Given the description of an element on the screen output the (x, y) to click on. 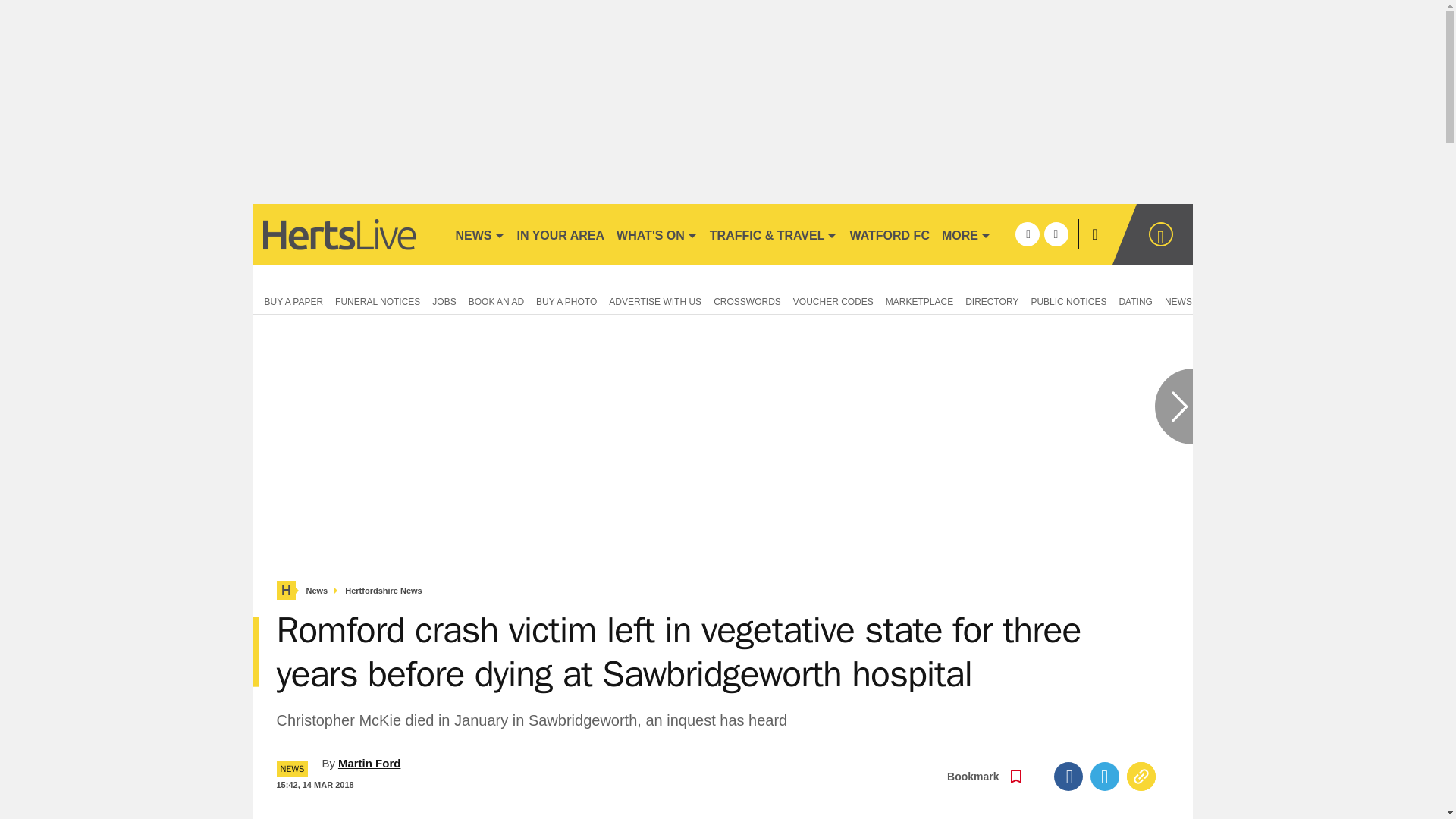
WATFORD FC (888, 233)
Facebook (1068, 776)
IN YOUR AREA (561, 233)
hertfordshiremercury (346, 233)
WHAT'S ON (656, 233)
twitter (1055, 233)
NEWS (479, 233)
facebook (1026, 233)
MORE (966, 233)
Twitter (1104, 776)
